Given the description of an element on the screen output the (x, y) to click on. 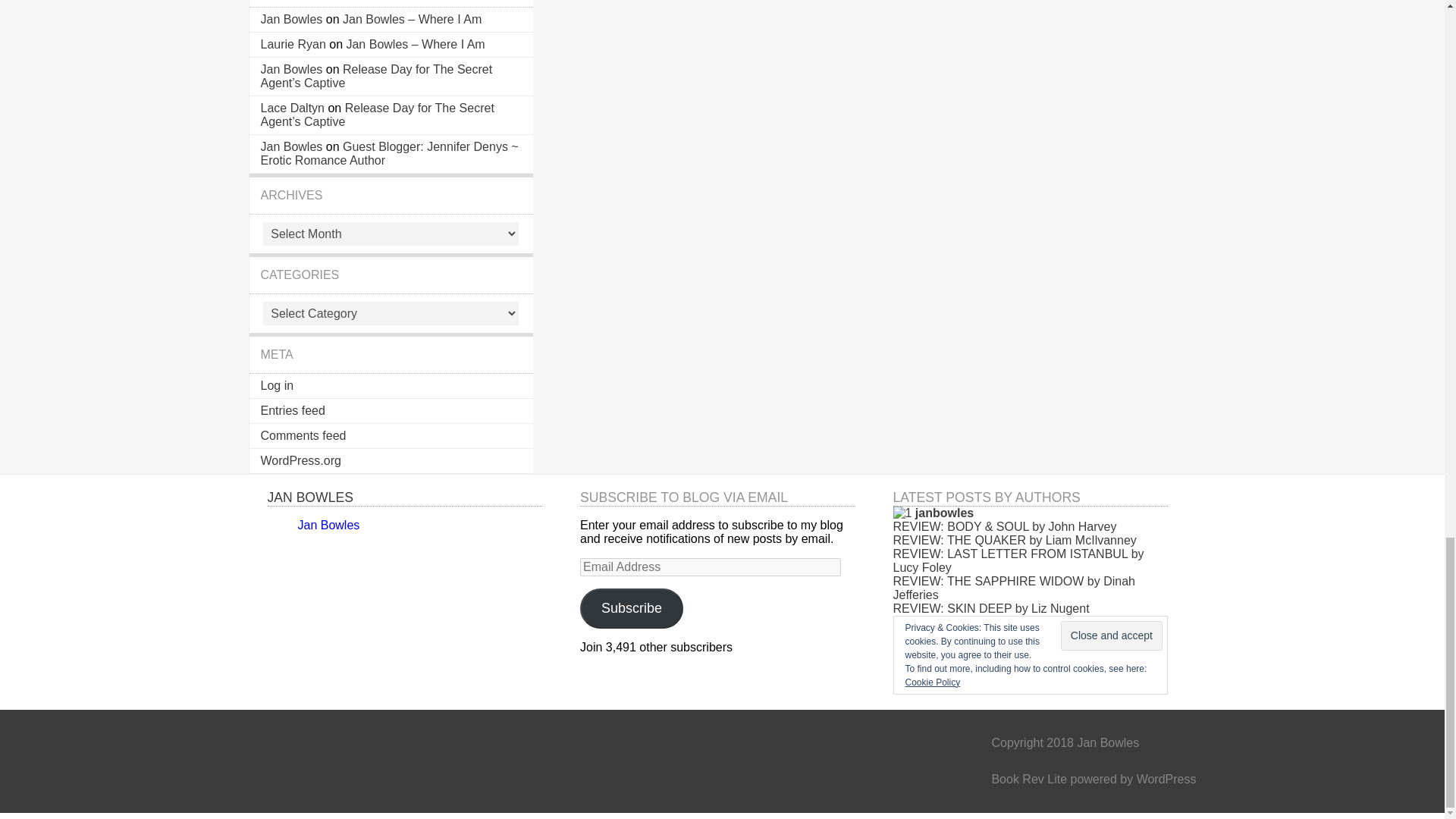
Jan Bowles (328, 524)
REVIEW: THE QUAKER by Liam McIlvanney (1015, 540)
Close and accept (1111, 635)
Entries feed (292, 410)
Jan Bowles (291, 146)
Jan Bowles (291, 69)
WordPress.org (300, 460)
REVIEW: LAST LETTER FROM ISTANBUL by Lucy Foley (1018, 560)
JAN BOWLES (309, 497)
Jan Bowles (291, 19)
